Given the description of an element on the screen output the (x, y) to click on. 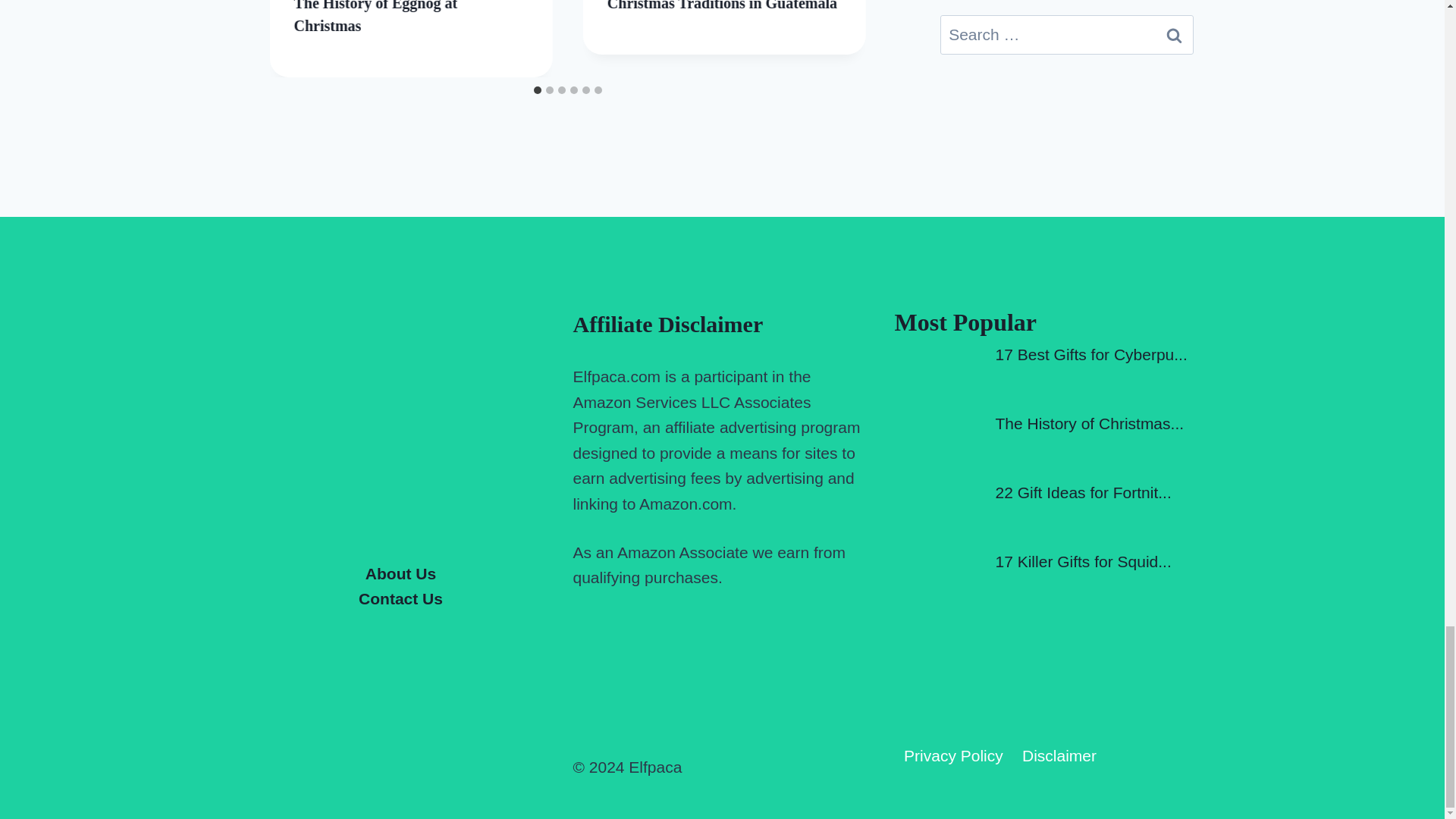
17 Killer Gifts for Squid Game Fans (1082, 561)
The History of Eggnog at Christmas (376, 17)
The History of Christmas Candles (1088, 423)
Christmas Traditions in Guatemala (722, 5)
17 Best Gifts for Cyberpunk Fans (1090, 354)
22 Gift Ideas for Fortnite Fans (1082, 492)
